Given the description of an element on the screen output the (x, y) to click on. 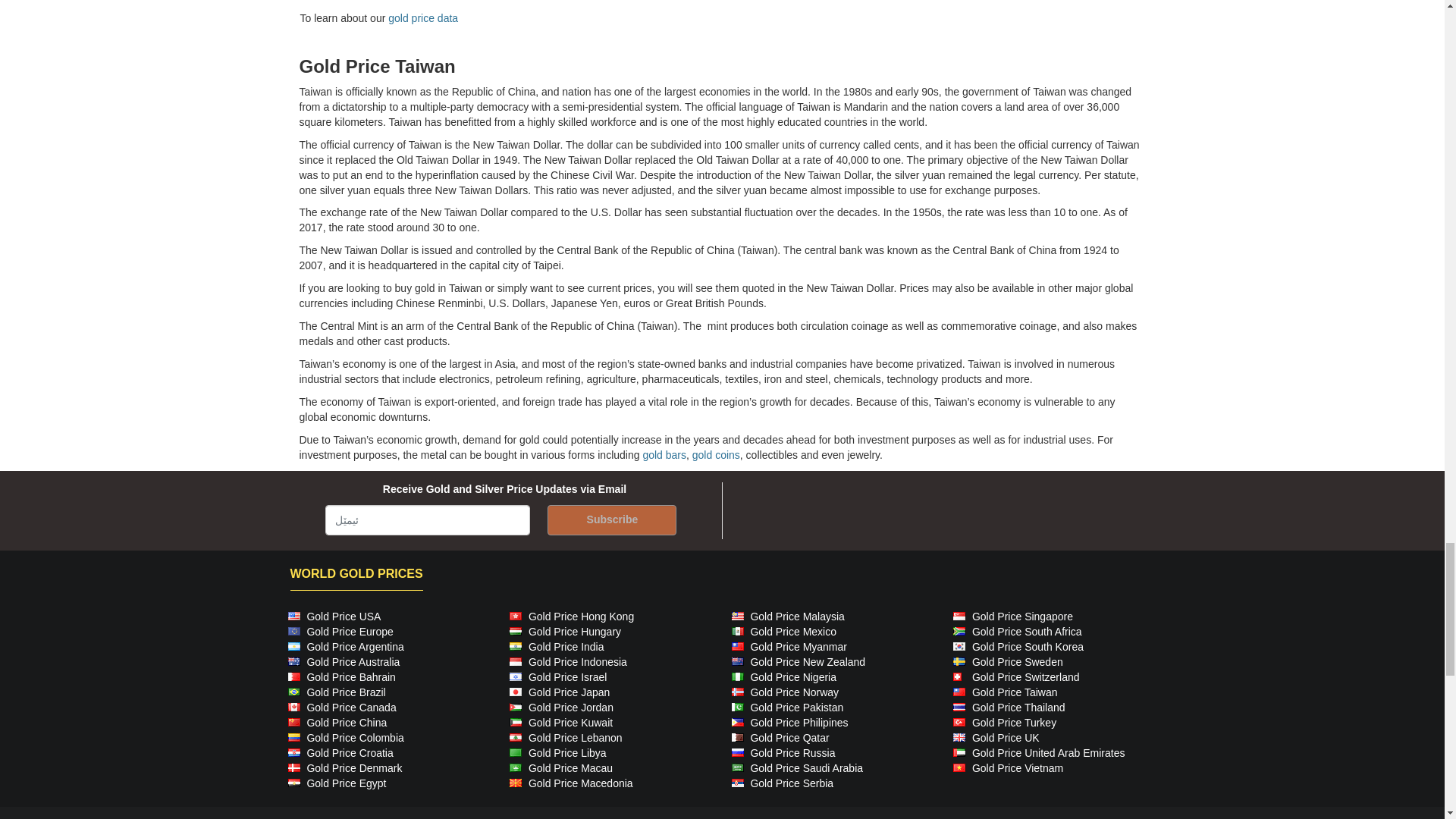
Subscribe (612, 520)
